Given the description of an element on the screen output the (x, y) to click on. 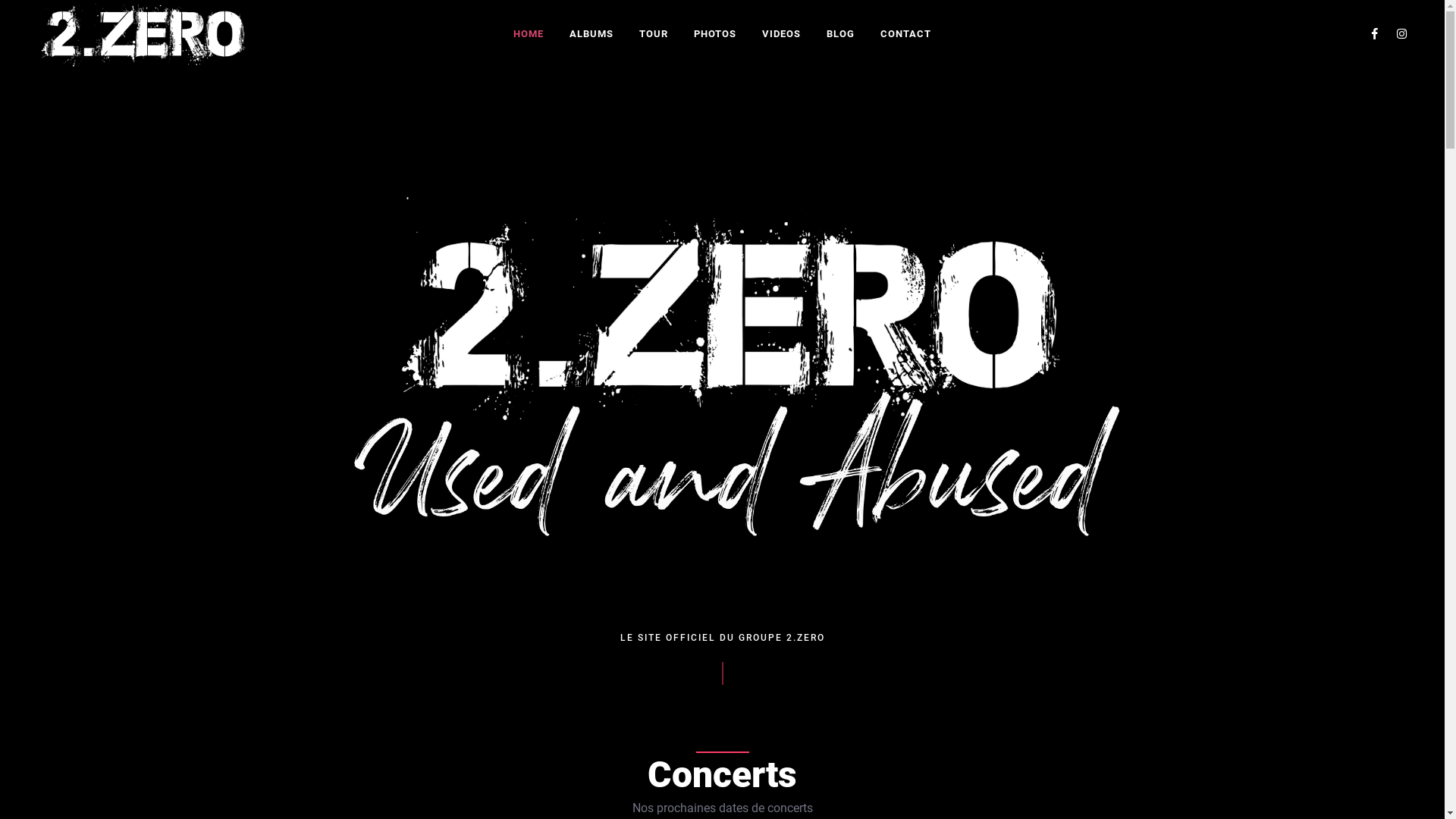
PHOTOS Element type: text (714, 33)
BLOG Element type: text (840, 33)
ALBUMS Element type: text (591, 33)
VIDEOS Element type: text (781, 33)
CONTACT Element type: text (905, 33)
HOME Element type: text (528, 33)
TOUR Element type: text (653, 33)
